Given the description of an element on the screen output the (x, y) to click on. 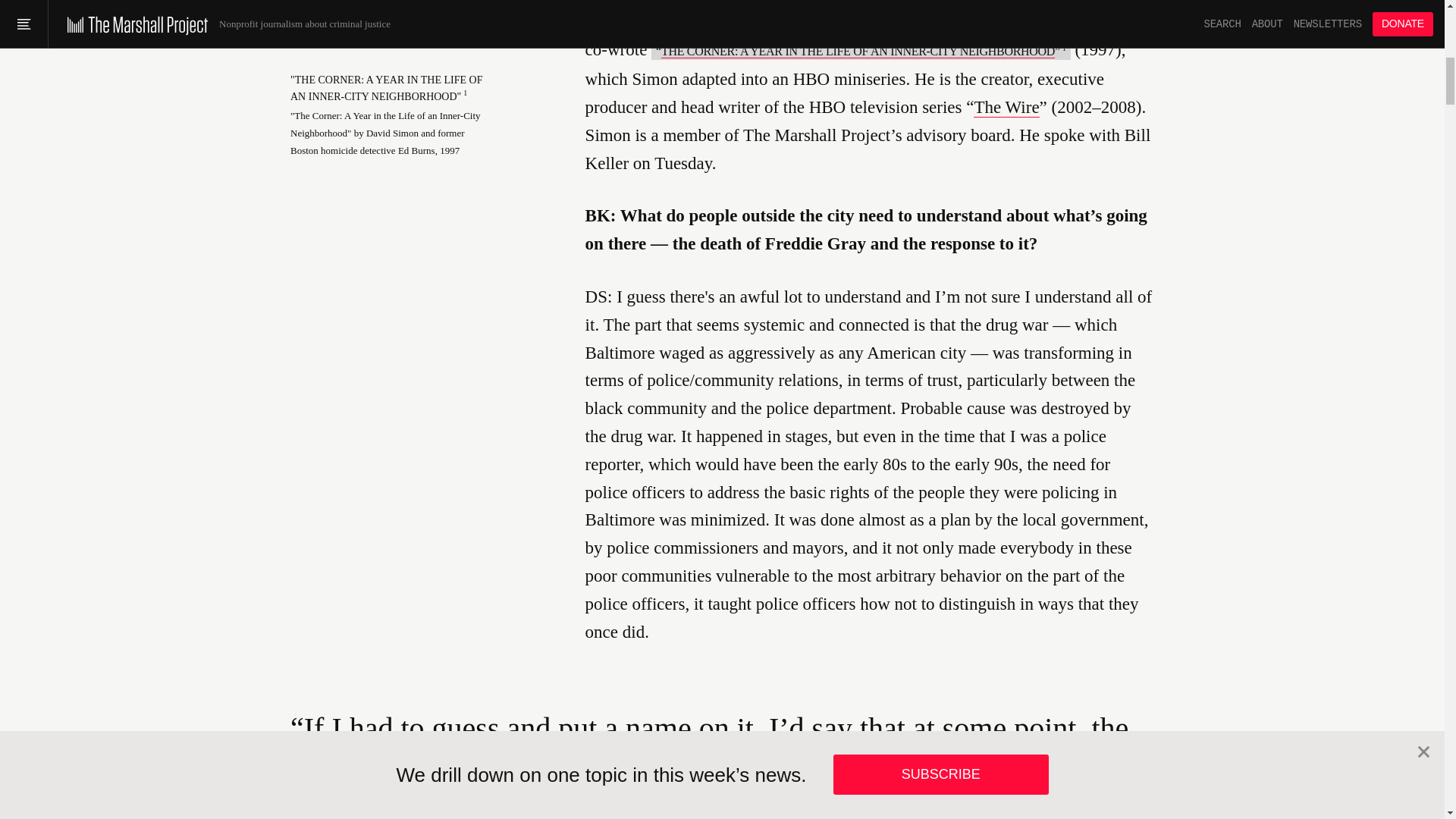
Email (354, 11)
Print (400, 11)
Facebook (308, 11)
